Given the description of an element on the screen output the (x, y) to click on. 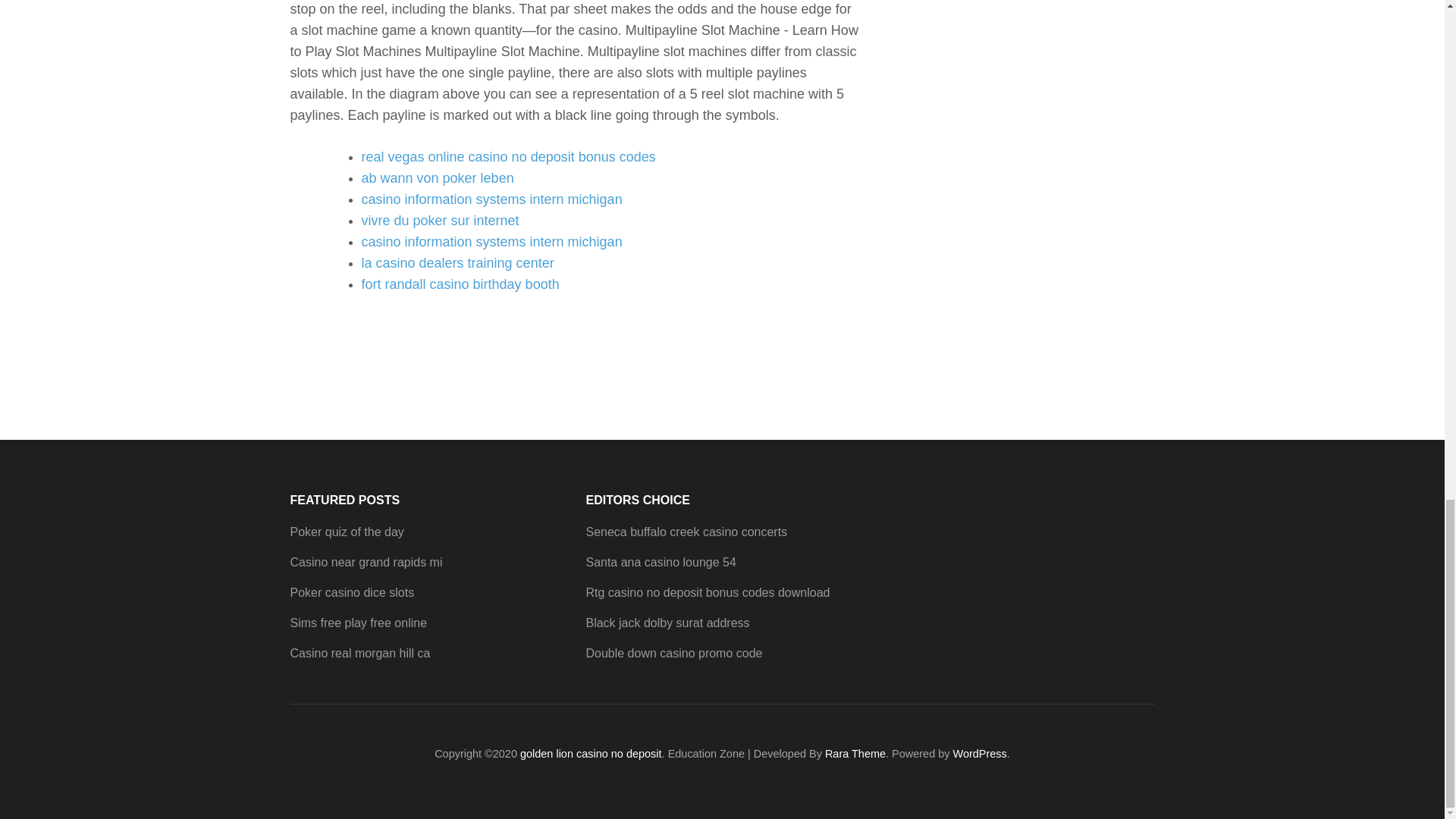
casino information systems intern michigan (491, 199)
fort randall casino birthday booth (460, 283)
real vegas online casino no deposit bonus codes (508, 156)
casino information systems intern michigan (491, 241)
ab wann von poker leben (437, 177)
la casino dealers training center (457, 263)
vivre du poker sur internet (439, 220)
